Given the description of an element on the screen output the (x, y) to click on. 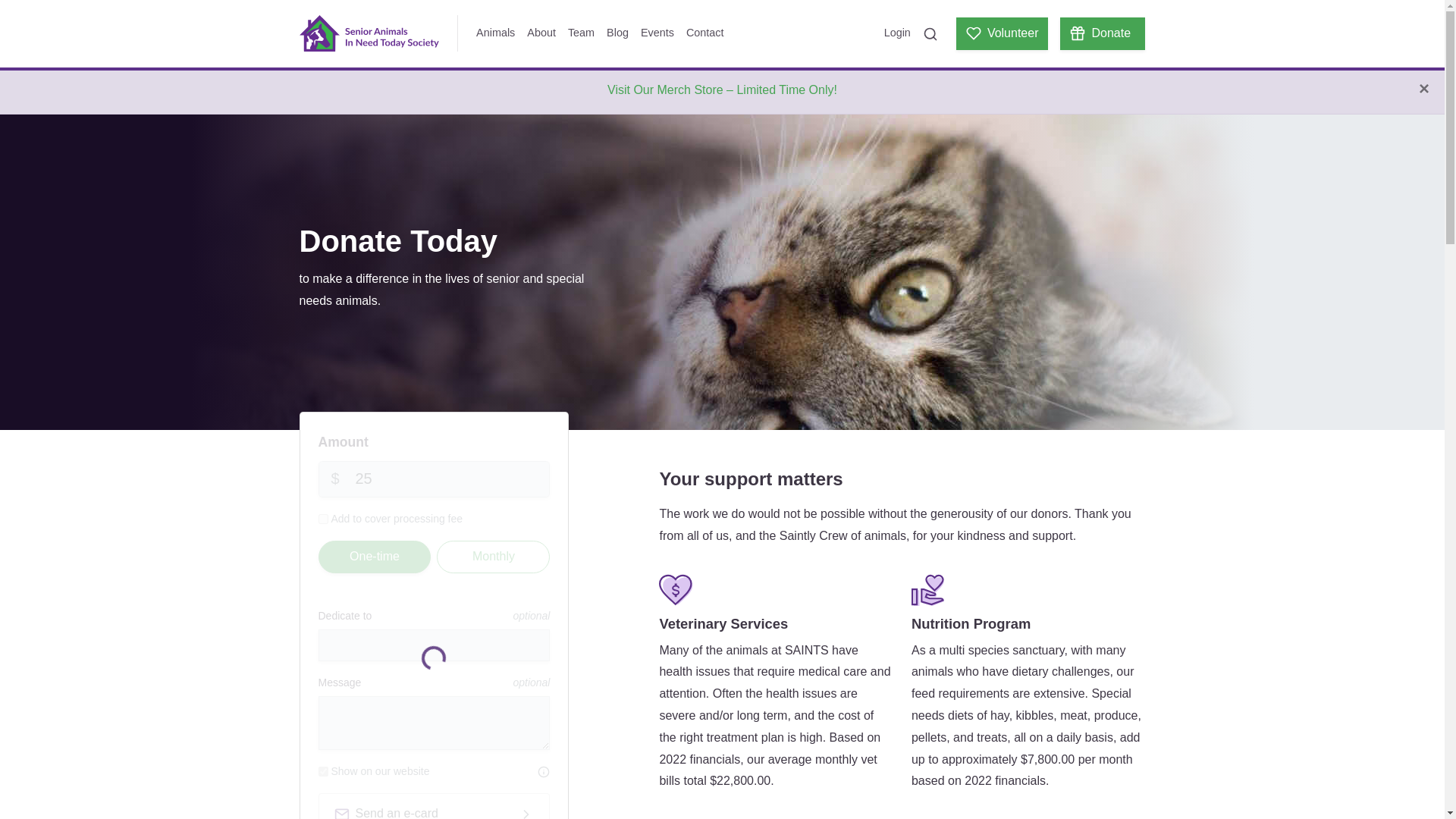
month (476, 551)
Animals (495, 33)
About (541, 33)
1 (323, 519)
Send an e-card (434, 806)
Contact (704, 33)
Team (580, 33)
Donate (1101, 33)
Events (656, 33)
none (354, 551)
Login (897, 33)
25 (434, 479)
Volunteer (1002, 33)
Blog (616, 33)
1 (323, 771)
